Given the description of an element on the screen output the (x, y) to click on. 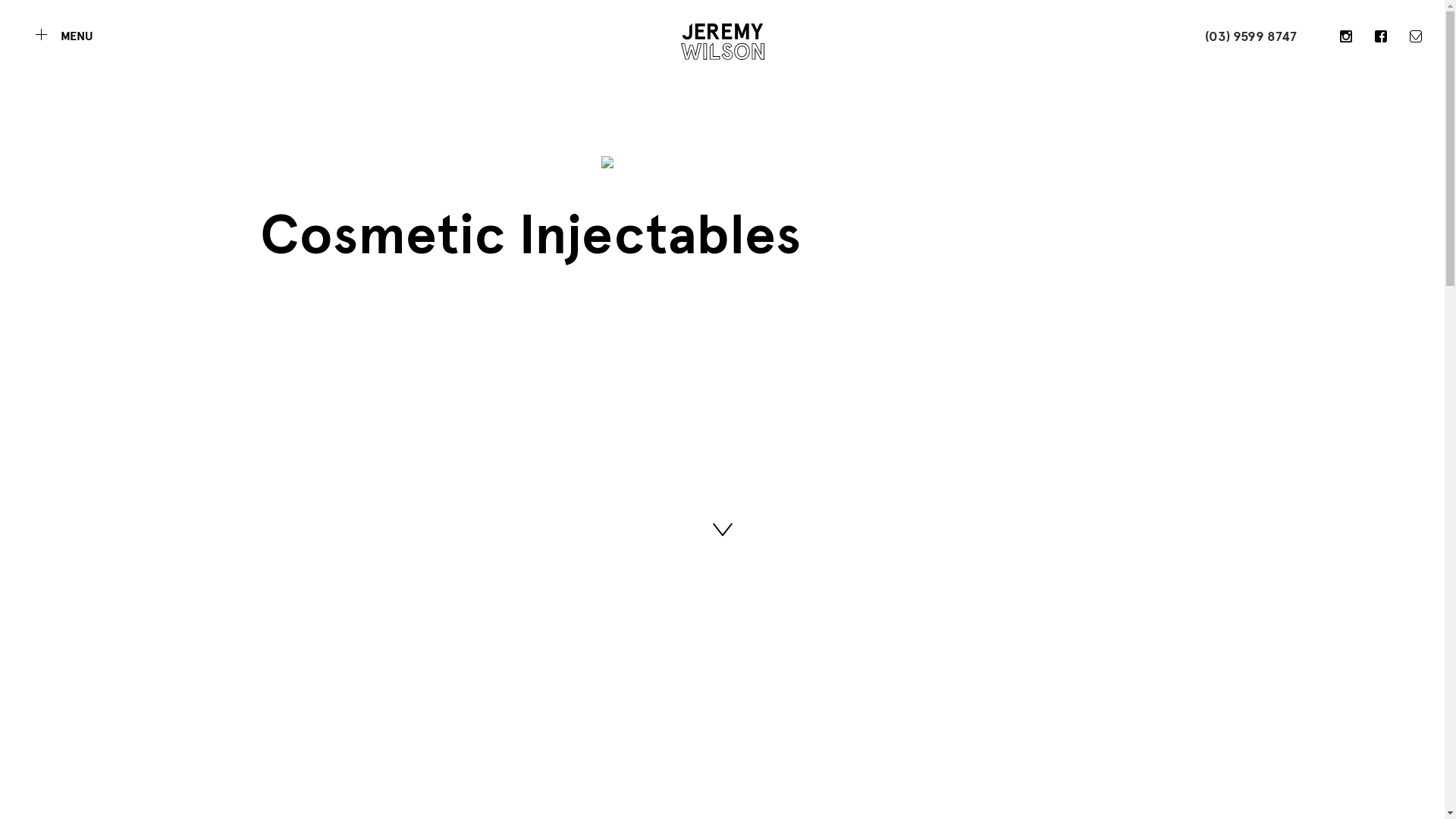
MENU Element type: text (63, 35)
(03) 9599 8747 Element type: text (1236, 36)
